Given the description of an element on the screen output the (x, y) to click on. 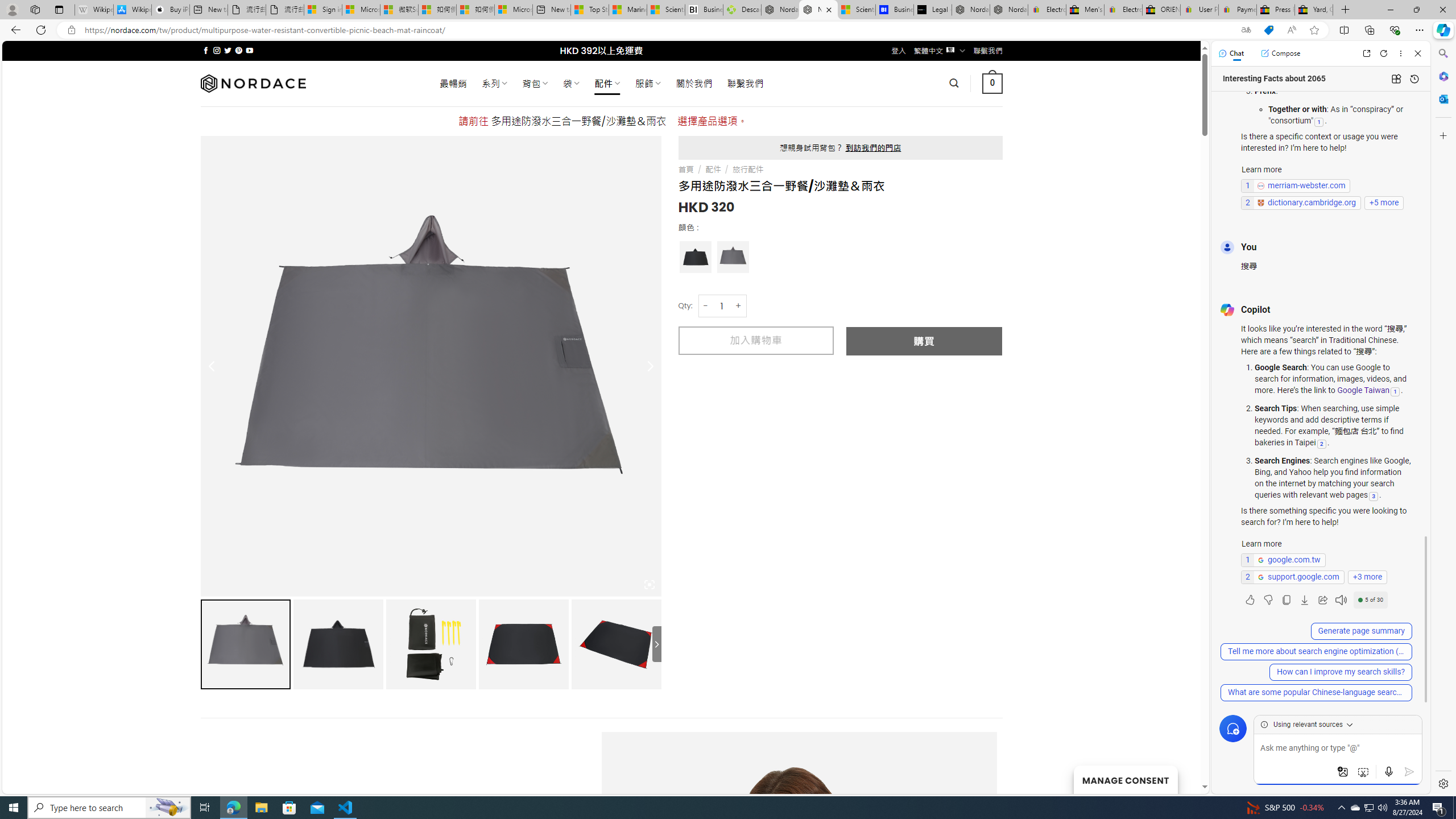
Class: iconic-woothumbs-fullscreen (649, 584)
Follow on YouTube (249, 50)
